Given the description of an element on the screen output the (x, y) to click on. 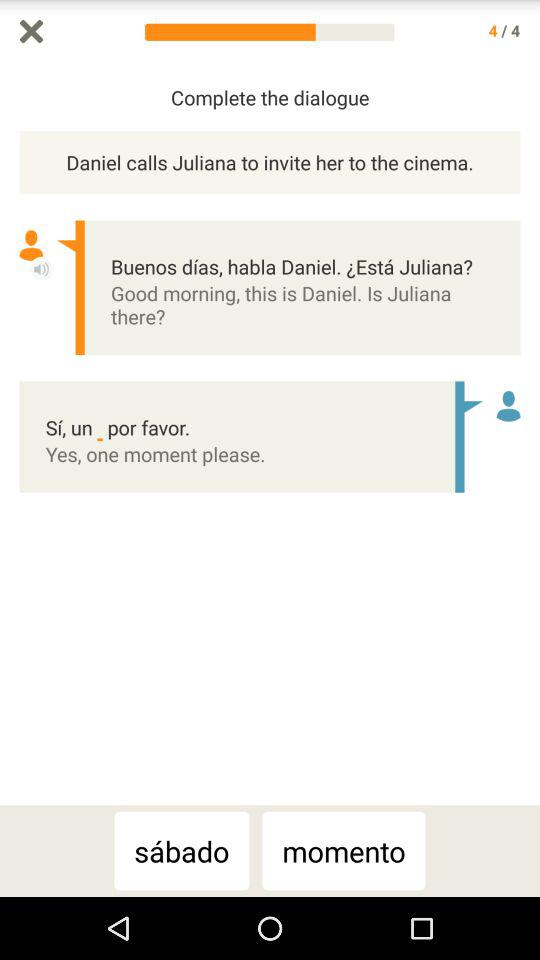
exit dialogue (31, 31)
